Given the description of an element on the screen output the (x, y) to click on. 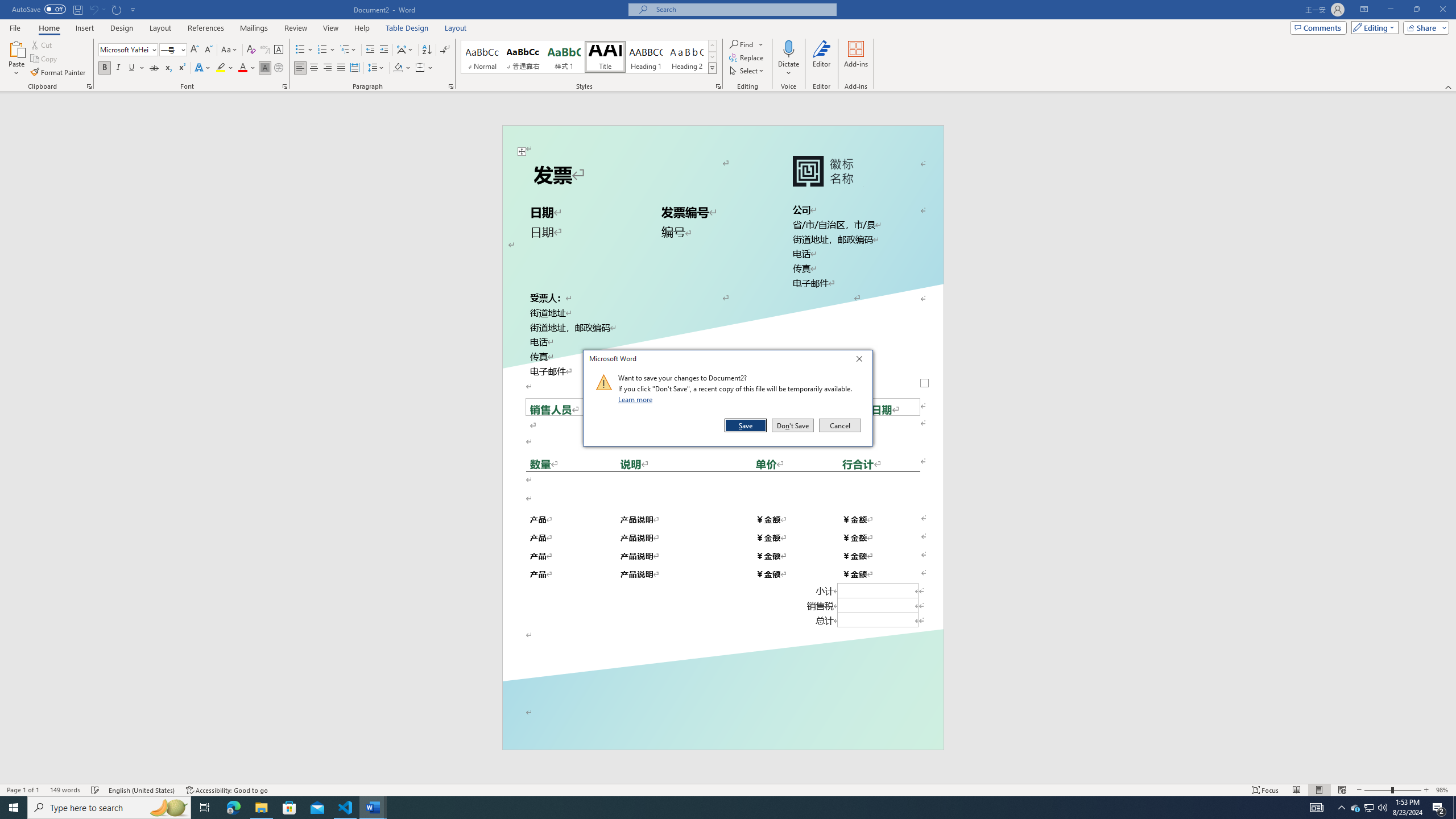
Find (746, 44)
Text Highlight Color Yellow (220, 67)
AutoSave (38, 9)
Shrink Font (208, 49)
Change Case (229, 49)
Read Mode (1296, 790)
Minimize (1390, 9)
Share (1423, 27)
Can't Undo (96, 9)
Mailings (253, 28)
Home (48, 28)
Dictate (788, 58)
Cancel (839, 425)
Paste (16, 48)
